Given the description of an element on the screen output the (x, y) to click on. 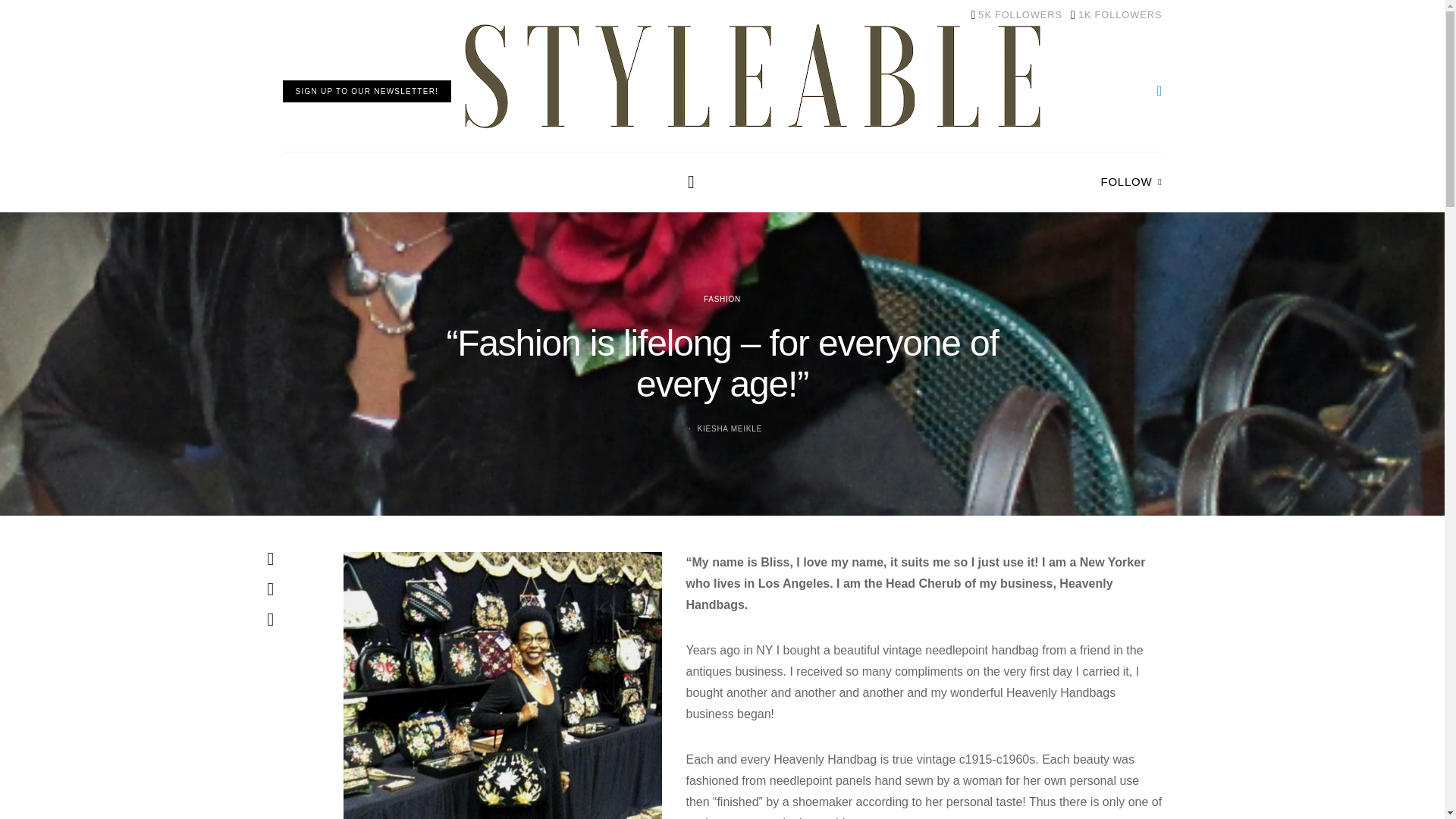
View all posts by Kiesha Meikle (729, 429)
SIGN UP TO OUR NEWSLETTER! (1115, 15)
